Given the description of an element on the screen output the (x, y) to click on. 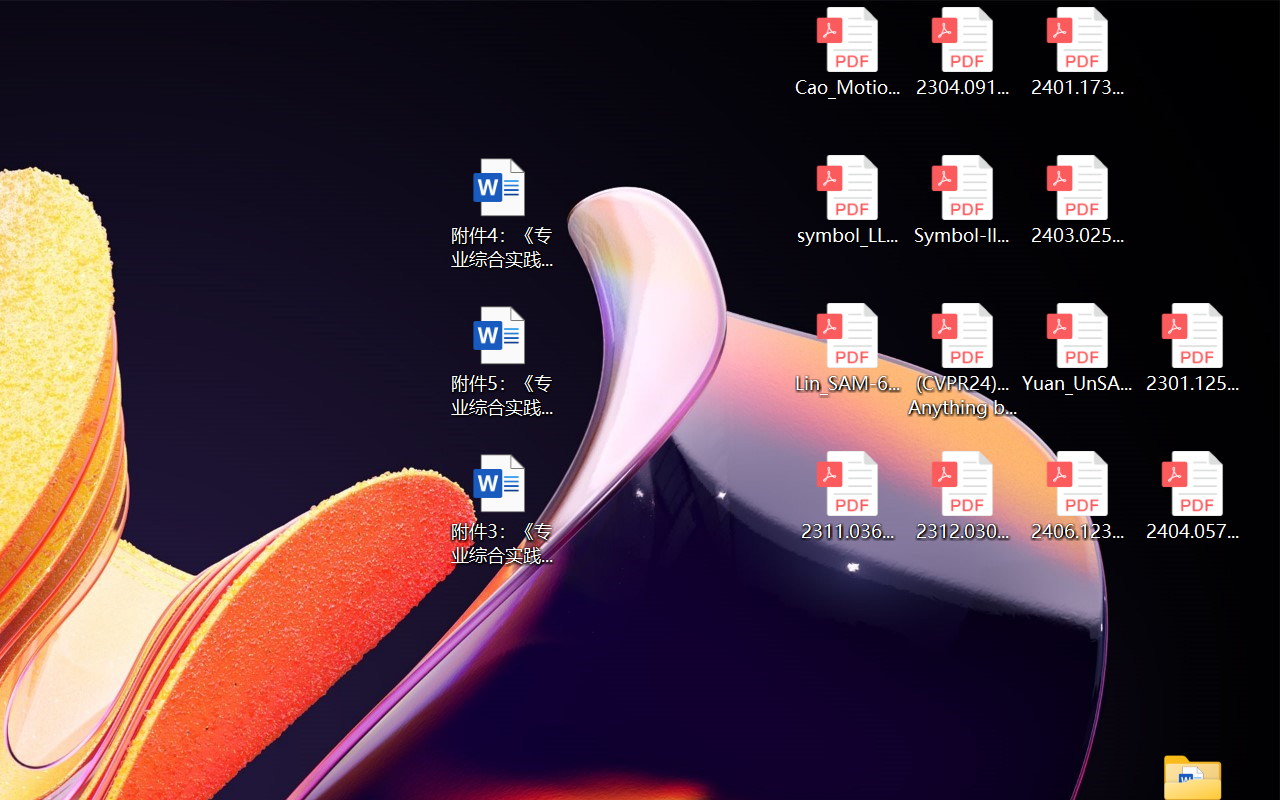
symbol_LLM.pdf (846, 200)
2312.03032v2.pdf (962, 496)
Symbol-llm-v2.pdf (962, 200)
2401.17399v1.pdf (1077, 52)
2301.12597v3.pdf (1192, 348)
(CVPR24)Matching Anything by Segmenting Anything.pdf (962, 360)
2406.12373v2.pdf (1077, 496)
2304.09121v3.pdf (962, 52)
2311.03658v2.pdf (846, 496)
2403.02502v1.pdf (1077, 200)
